Given the description of an element on the screen output the (x, y) to click on. 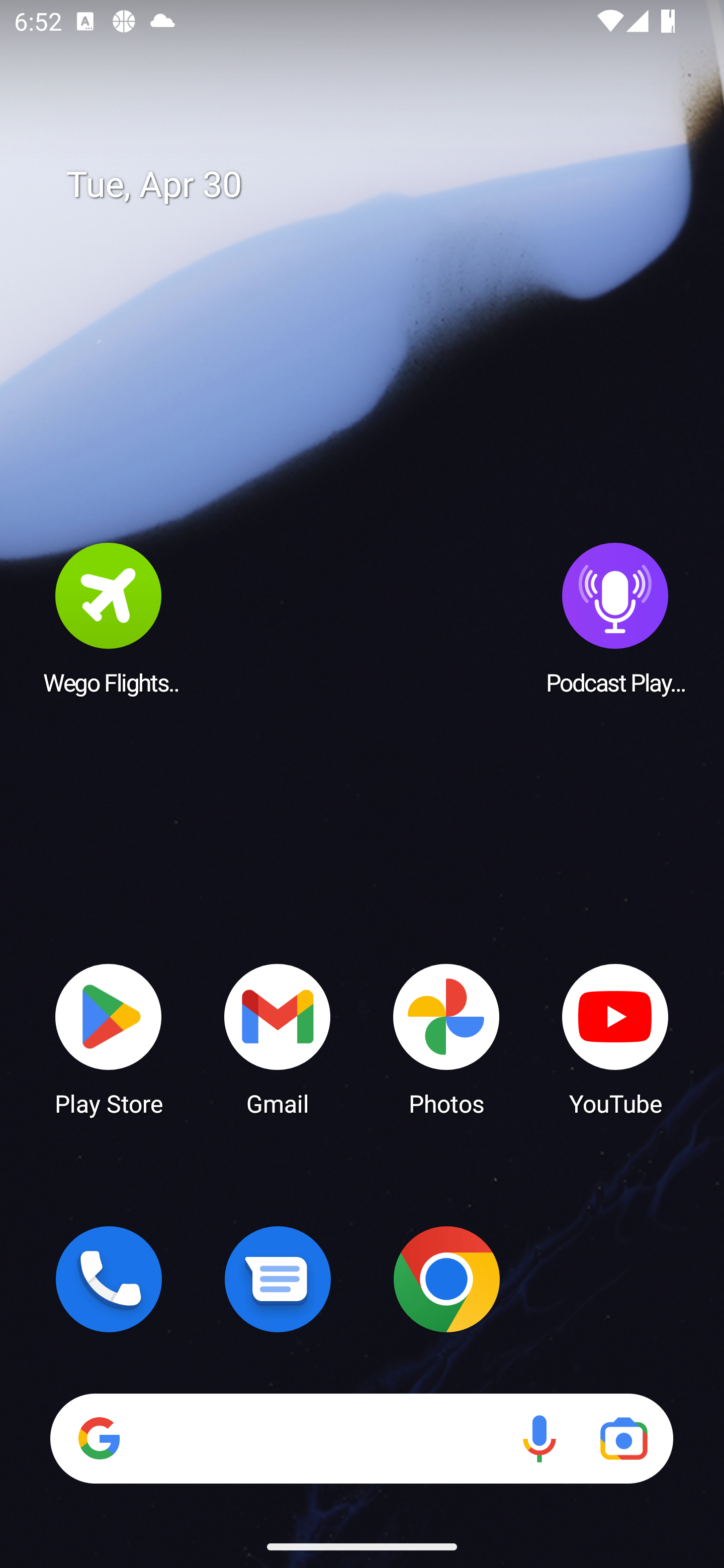
Tue, Apr 30 (375, 184)
Wego Flights & Hotels (108, 617)
Podcast Player (615, 617)
Play Store (108, 1038)
Gmail (277, 1038)
Photos (445, 1038)
YouTube (615, 1038)
Phone (108, 1279)
Messages (277, 1279)
Chrome (446, 1279)
Voice search (539, 1438)
Google Lens (623, 1438)
